Given the description of an element on the screen output the (x, y) to click on. 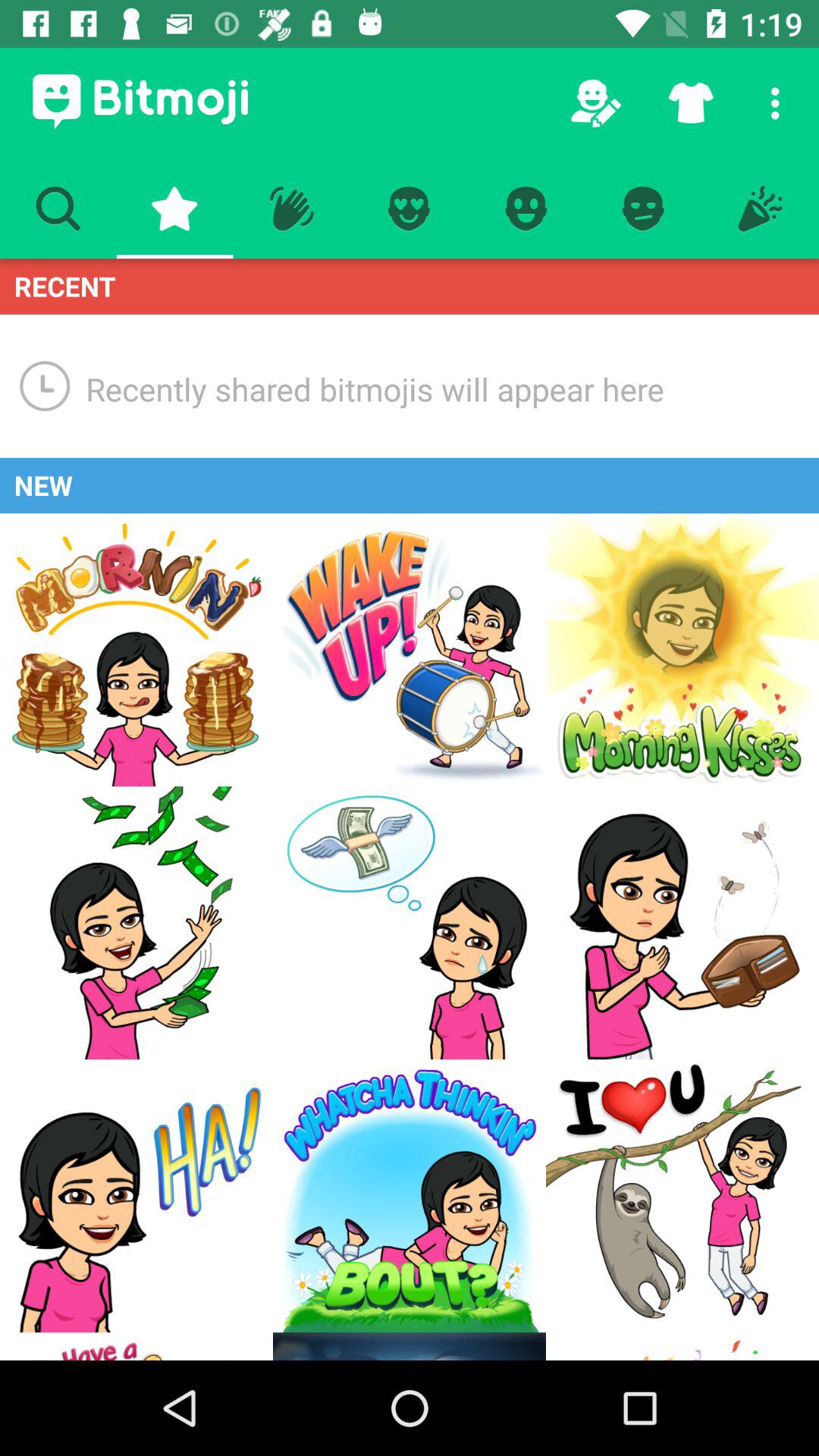
go back (136, 1346)
